Given the description of an element on the screen output the (x, y) to click on. 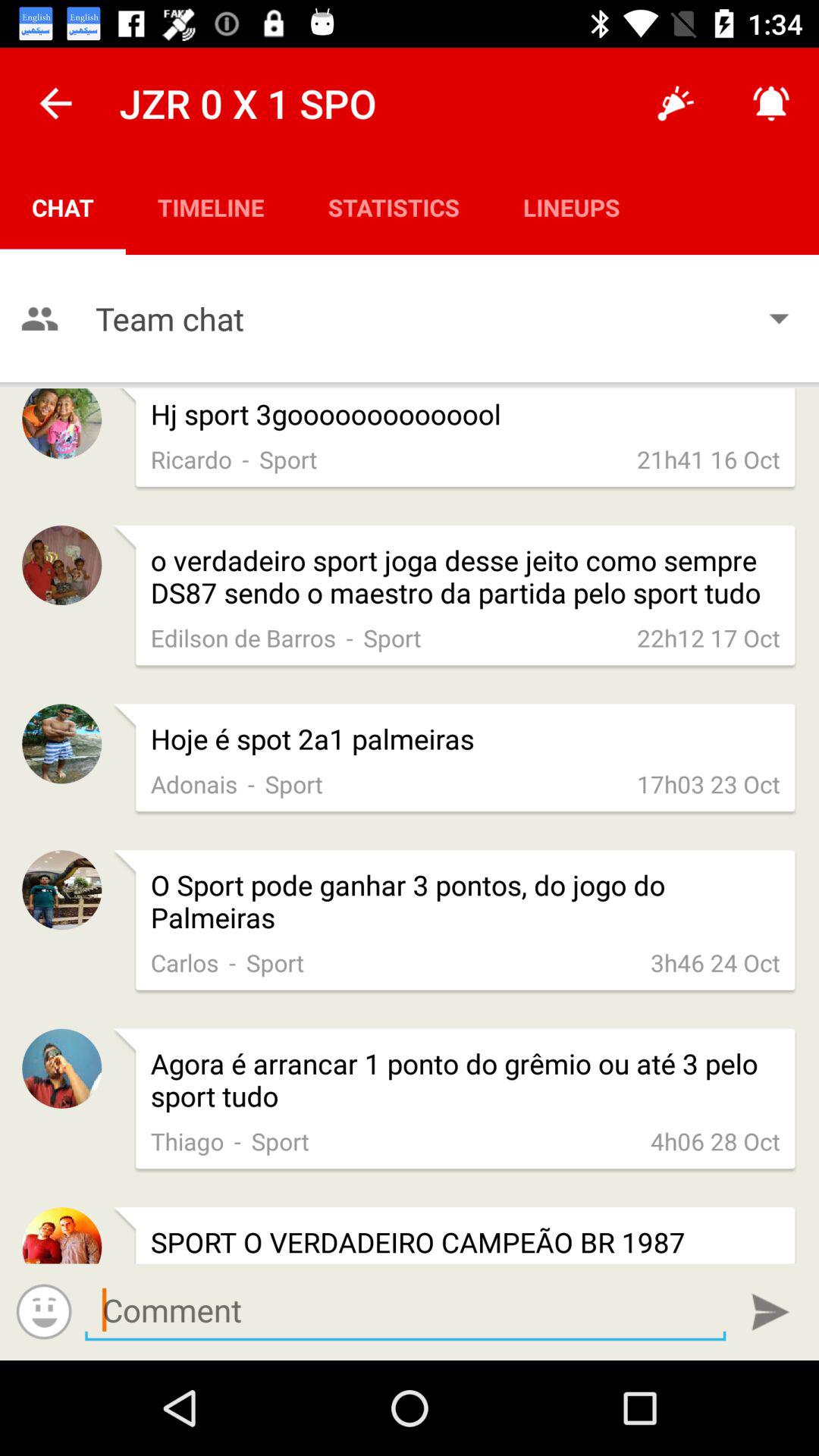
press the app below edilson de barros (465, 738)
